Given the description of an element on the screen output the (x, y) to click on. 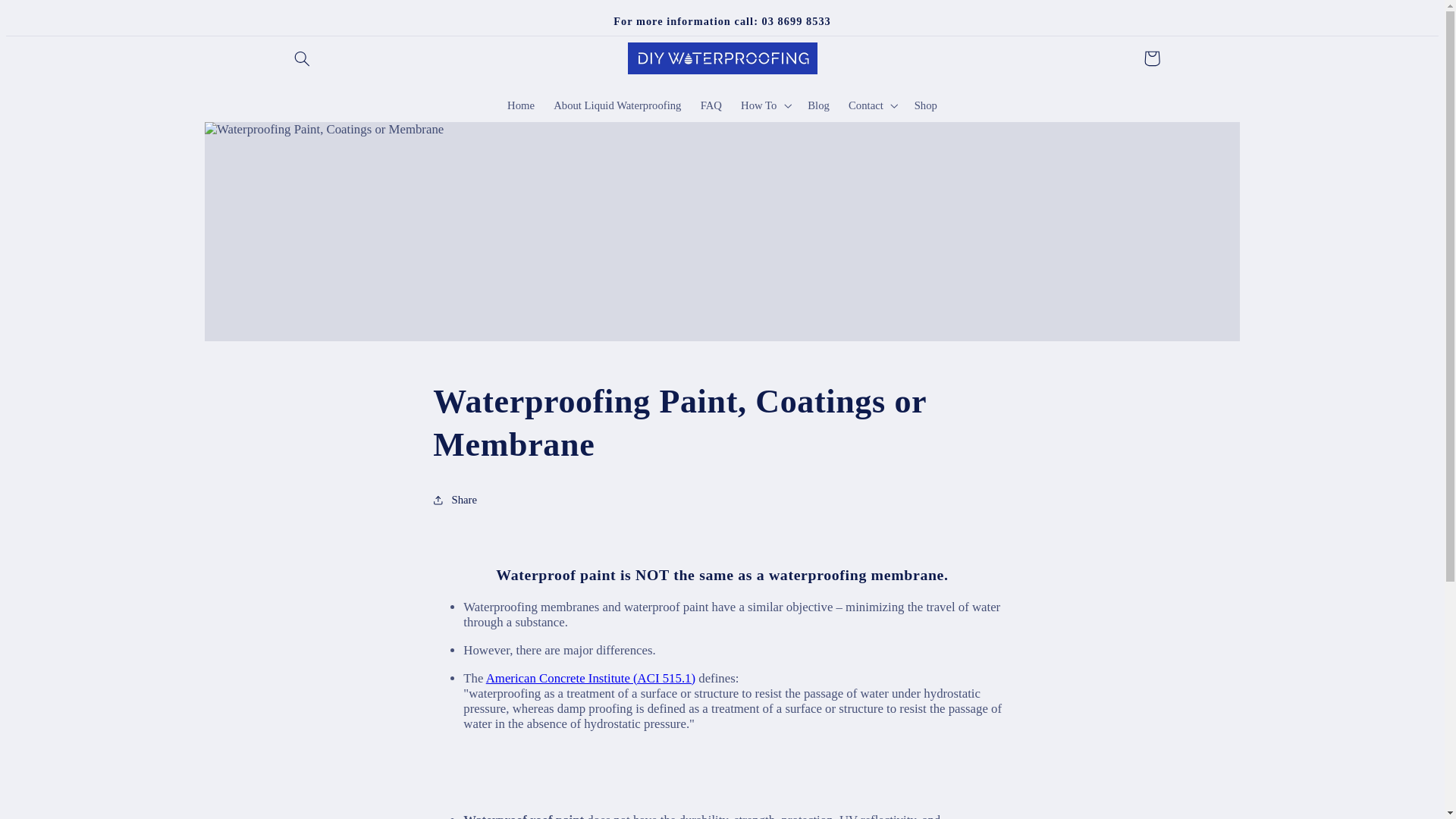
Blog (818, 105)
Skip to content (53, 23)
Home (520, 105)
FAQ (710, 105)
Cart (1151, 58)
About Liquid Waterproofing (617, 105)
Shop (925, 105)
